Given the description of an element on the screen output the (x, y) to click on. 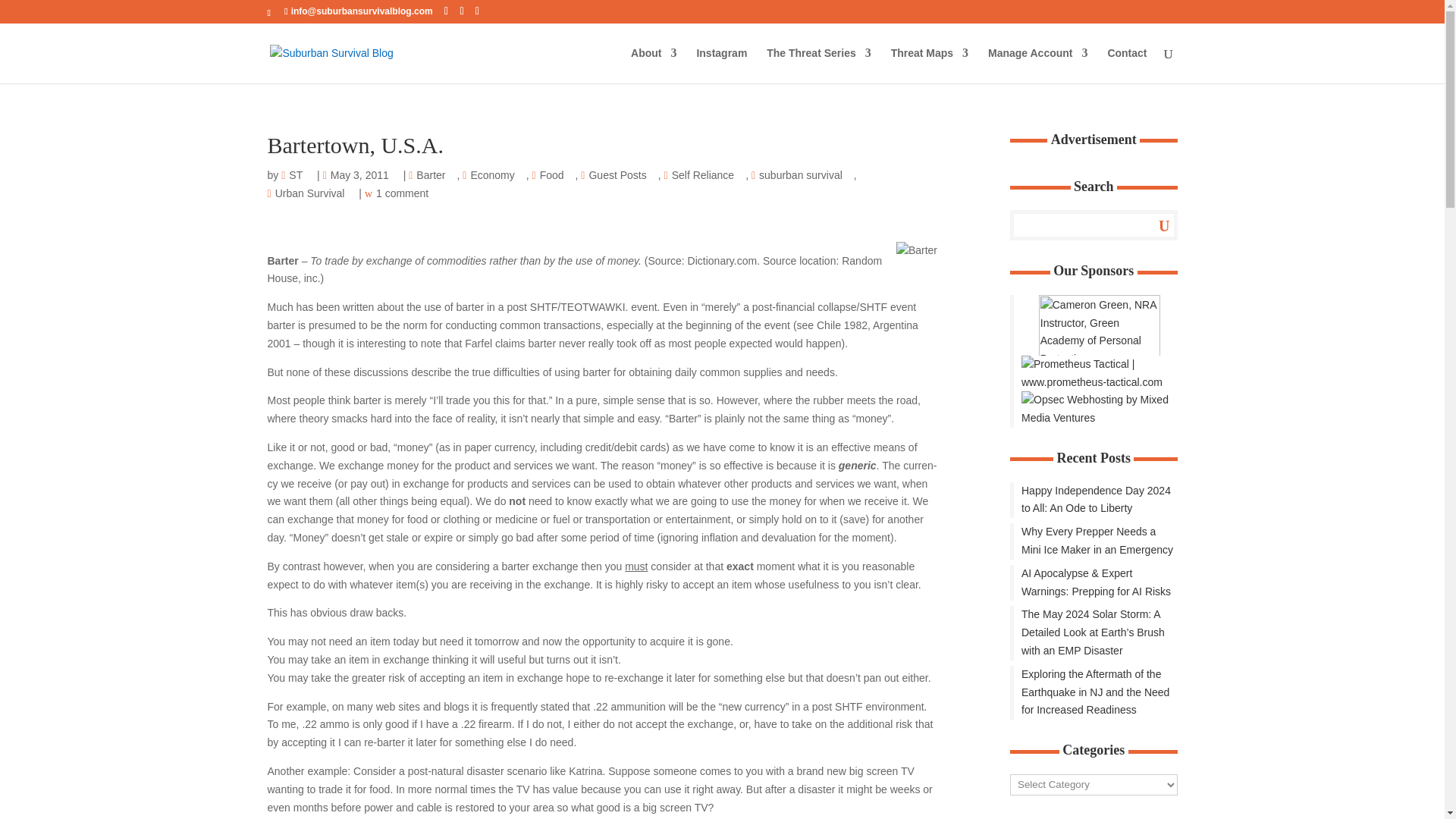
Search (1153, 224)
Threat Maps (929, 65)
Barter (434, 176)
Contact (1126, 65)
Economy (495, 176)
About (653, 65)
suburban survival (805, 176)
Opsec Webhosting by Mixed Media Ventures (1093, 373)
Self Reliance (707, 176)
Opsec Webhosting by Mixed Media Ventures (1093, 409)
Urban Survival (312, 194)
Guest Posts (620, 176)
Manage Account (1037, 65)
The Threat Series (818, 65)
